Given the description of an element on the screen output the (x, y) to click on. 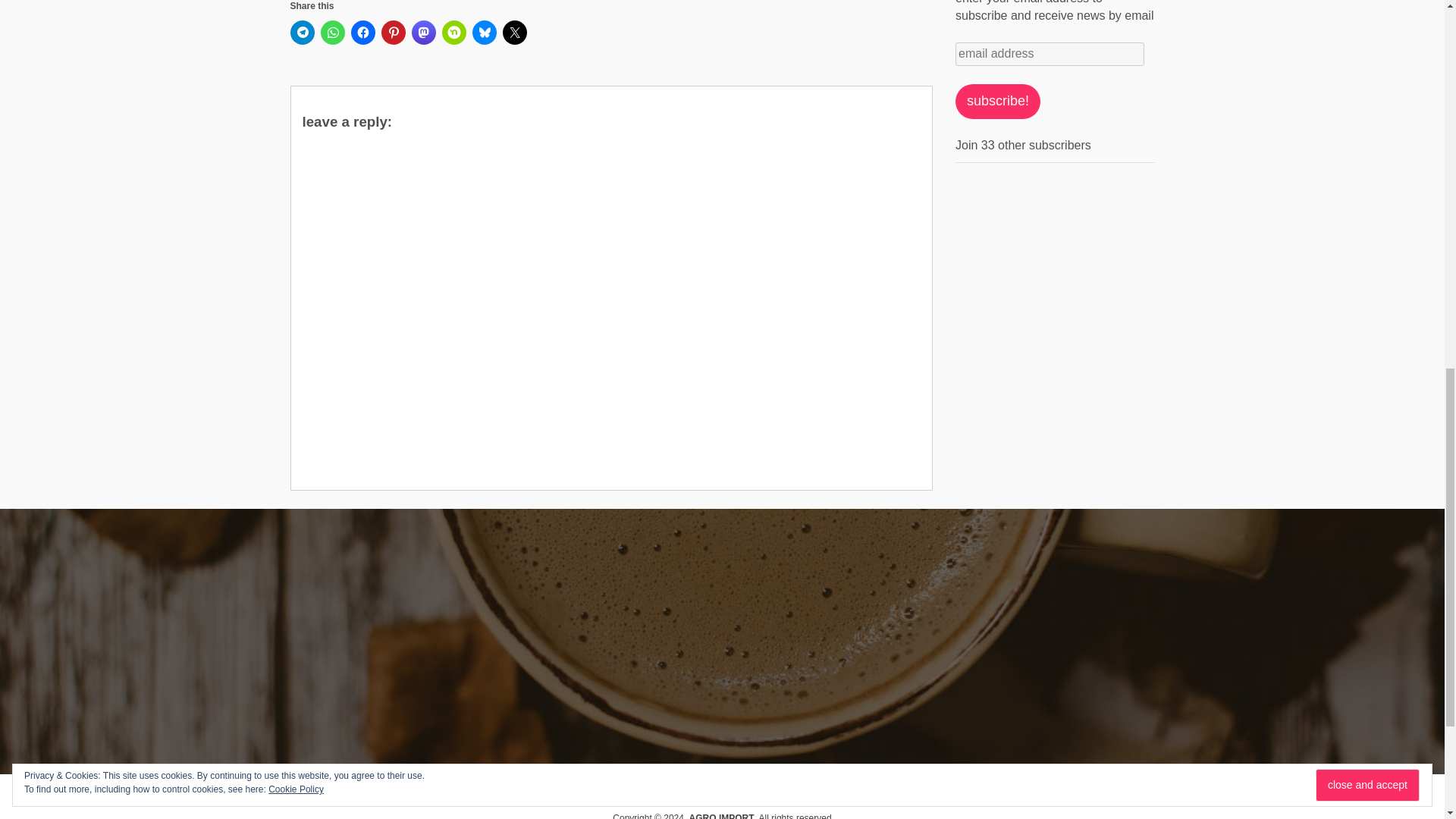
Click to share on WhatsApp (331, 32)
Click to share on X (513, 32)
Click to share on Telegram (301, 32)
Click to share on Facebook (362, 32)
Click to share on Nextdoor (453, 32)
Click to share on Bluesky (483, 32)
Click to share on Pinterest (392, 32)
Click to share on Mastodon (422, 32)
